Given the description of an element on the screen output the (x, y) to click on. 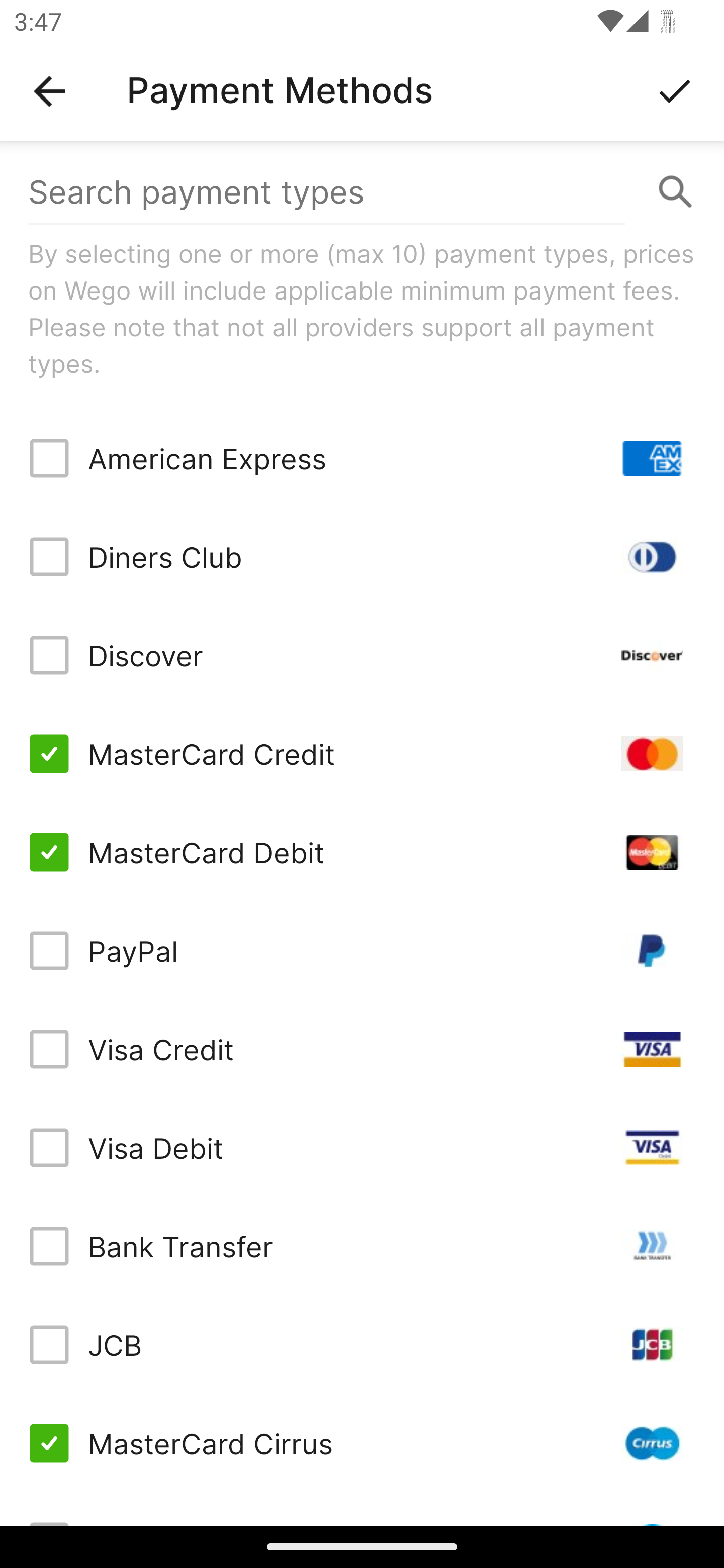
Search payment types  (361, 191)
American Express (362, 458)
Diners Club (362, 557)
Discover (362, 655)
MasterCard Credit (362, 753)
MasterCard Debit (362, 851)
PayPal (362, 950)
Visa Credit (362, 1049)
Visa Debit (362, 1147)
Bank Transfer (362, 1245)
JCB (362, 1344)
MasterCard Cirrus (362, 1442)
